Given the description of an element on the screen output the (x, y) to click on. 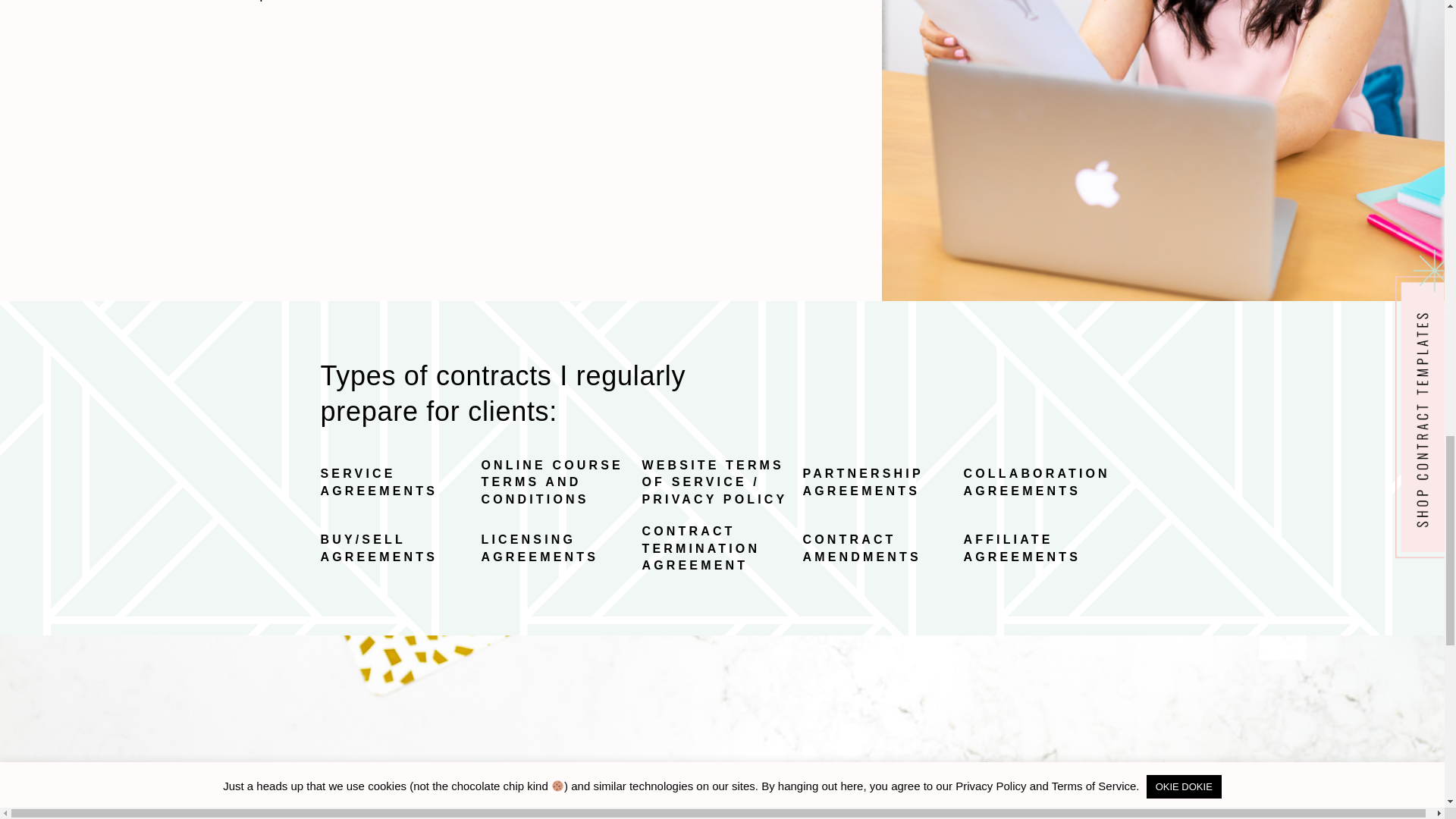
Let's get started! (957, 814)
